Given the description of an element on the screen output the (x, y) to click on. 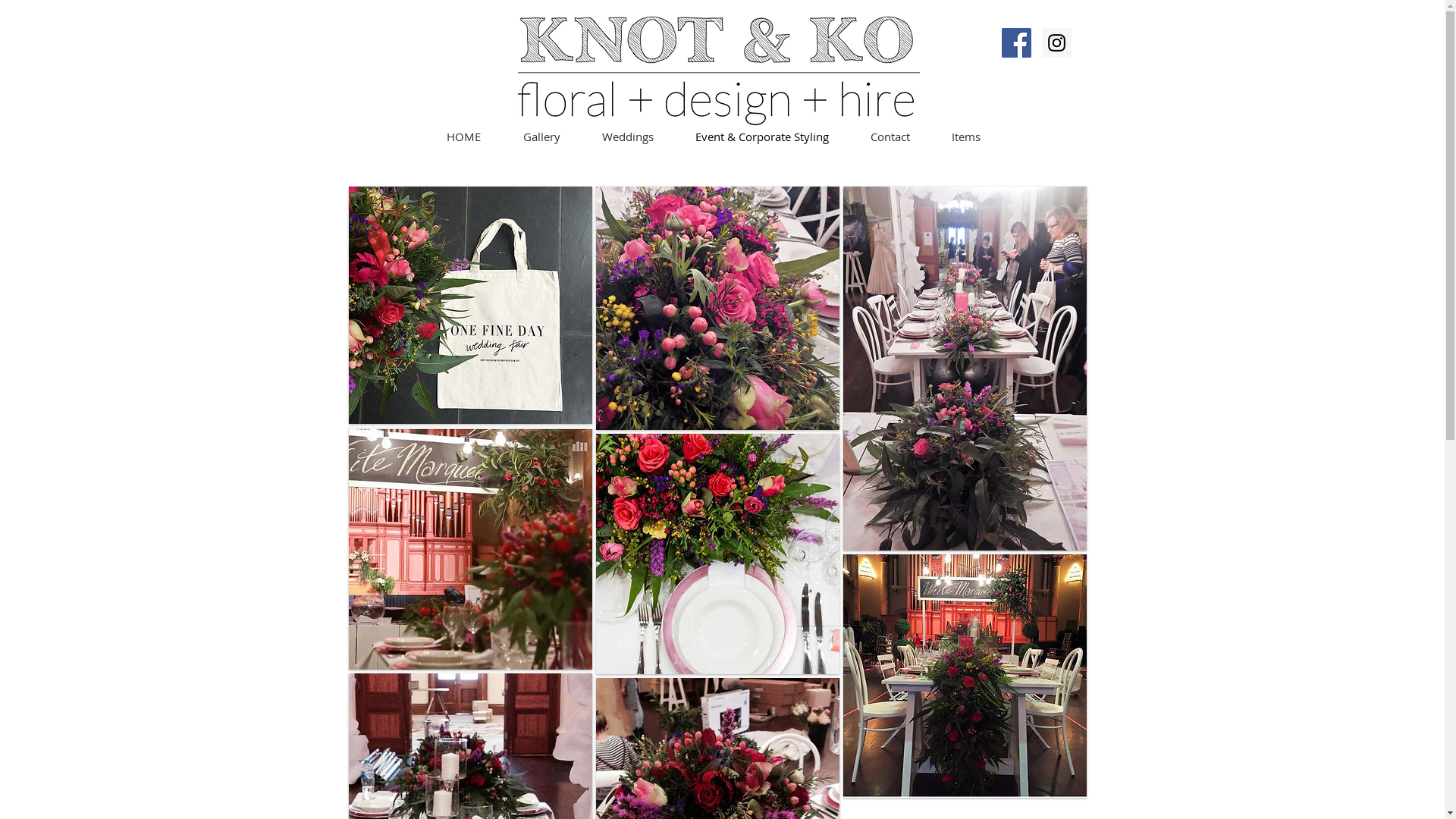
Weddings Element type: text (627, 136)
Gallery Element type: text (541, 136)
Items Element type: text (966, 136)
Contact Element type: text (889, 136)
Knot & Ko Logo.png Element type: hover (718, 70)
HOME Element type: text (462, 136)
Event & Corporate Styling Element type: text (762, 136)
